Given the description of an element on the screen output the (x, y) to click on. 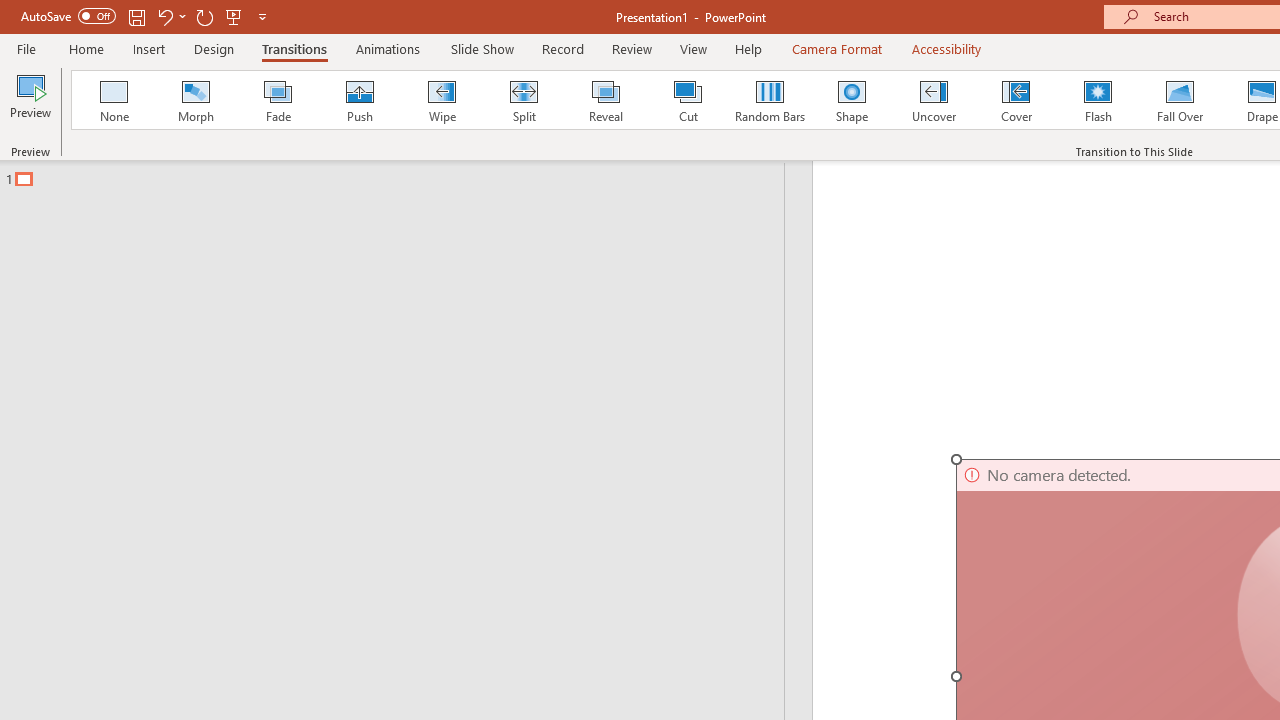
Wipe (441, 100)
Reveal (605, 100)
Outline (401, 174)
Fall Over (1180, 100)
Flash (1098, 100)
Push (359, 100)
